Given the description of an element on the screen output the (x, y) to click on. 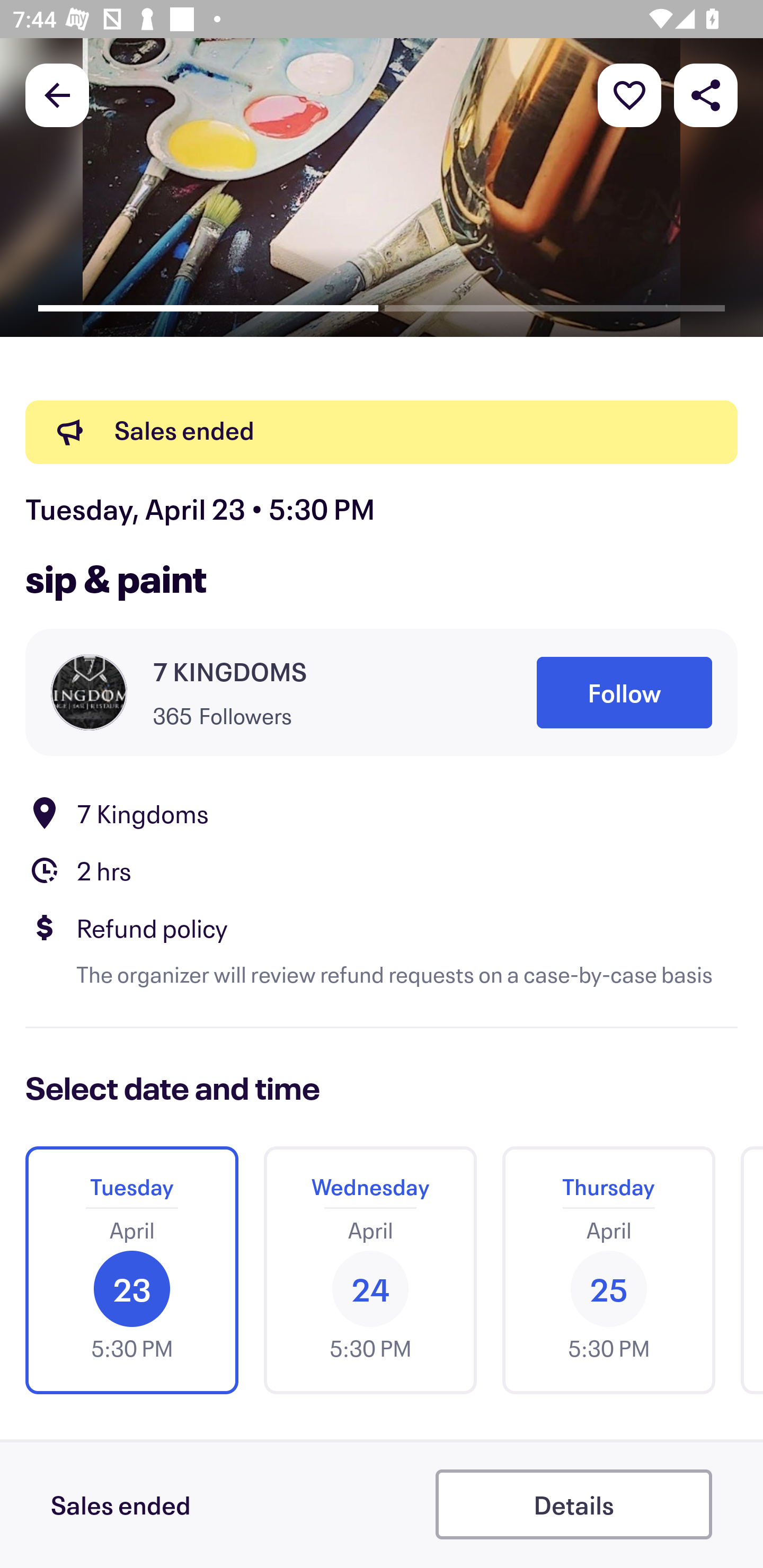
Back (57, 94)
More (629, 94)
Share (705, 94)
7 KINGDOMS (229, 671)
Organizer profile picture (89, 691)
Follow (623, 692)
Location 7 Kingdoms (381, 812)
Tuesday April 23 5:30 PM (131, 1269)
Wednesday April 24 5:30 PM (370, 1269)
Thursday April 25 5:30 PM (608, 1269)
Details (573, 1504)
